Given the description of an element on the screen output the (x, y) to click on. 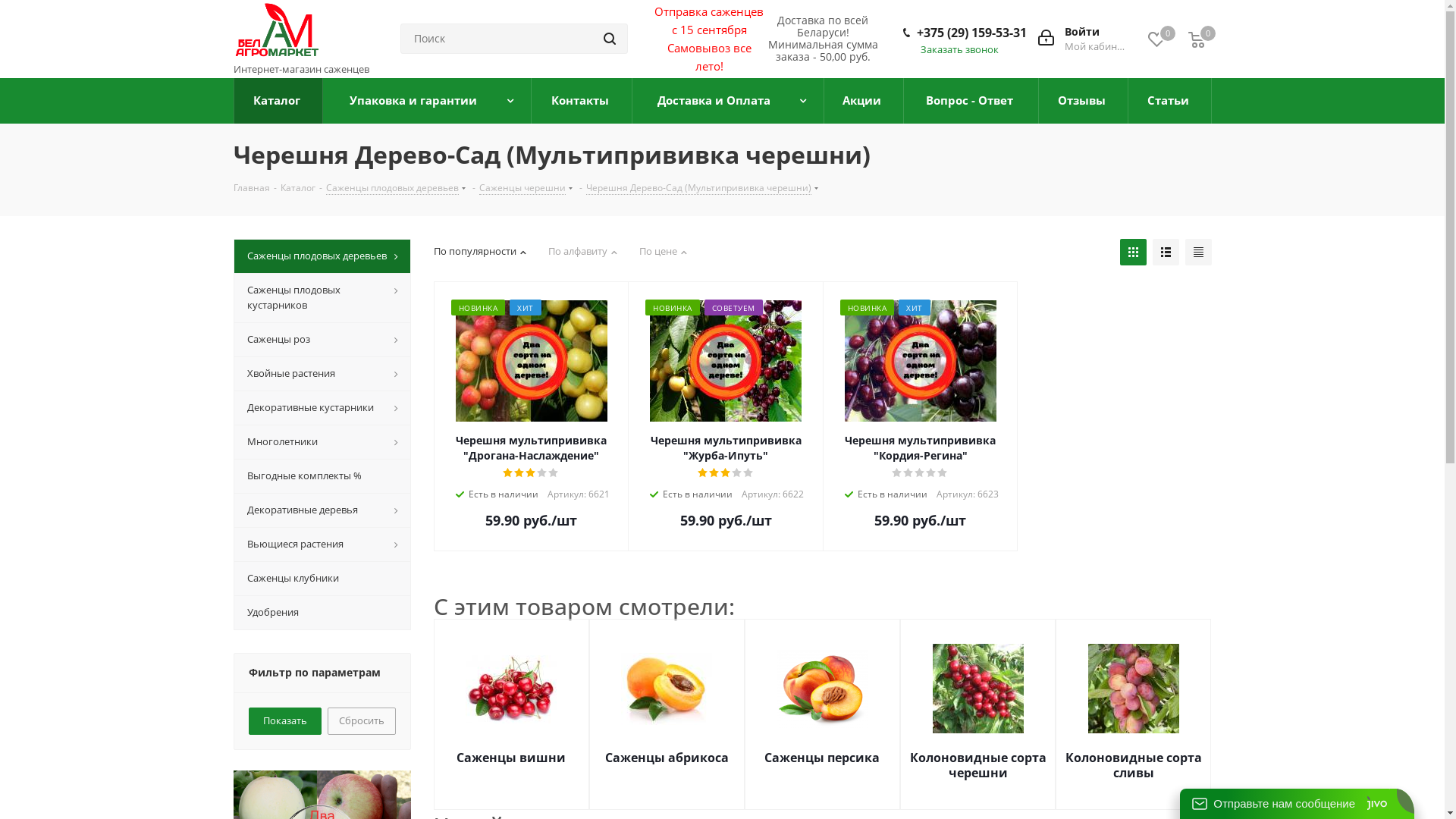
4 Element type: hover (737, 472)
4 Element type: hover (542, 472)
3 Element type: hover (919, 472)
2 Element type: hover (519, 472)
5 Element type: hover (553, 472)
5 Element type: hover (748, 472)
1 Element type: hover (508, 472)
1 Element type: hover (703, 472)
2 Element type: hover (908, 472)
3 Element type: hover (725, 472)
+375 (29) 159-53-31 Element type: text (971, 32)
4 Element type: hover (931, 472)
3 Element type: hover (530, 472)
5 Element type: hover (942, 472)
2 Element type: hover (714, 472)
1 Element type: hover (897, 472)
